Given the description of an element on the screen output the (x, y) to click on. 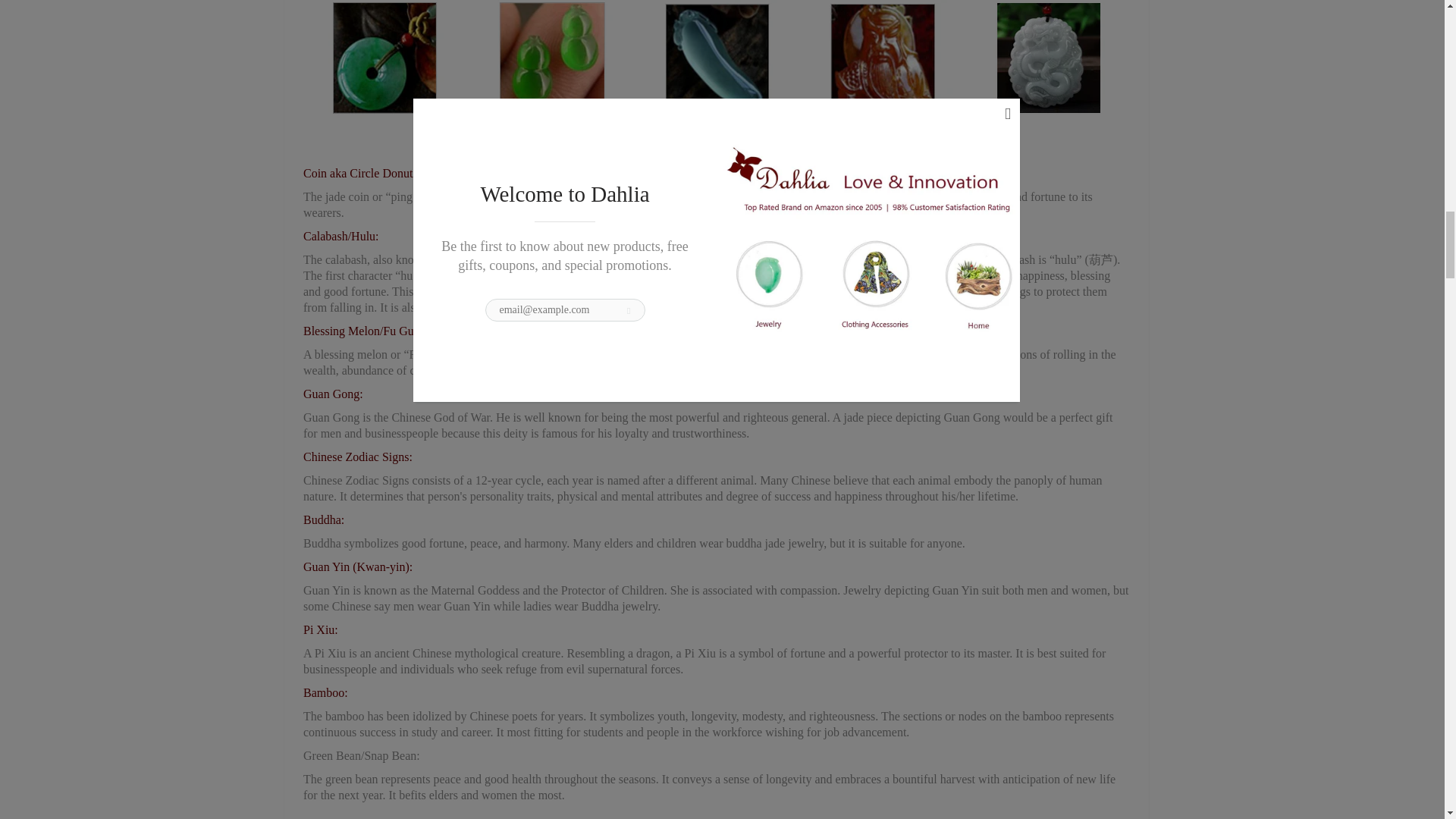
Dahlia Jade Jewelry Necklace Coin Circle Donut Pendant (392, 173)
Jadeite Jade Dahlia Calabash Necklace Pendant (340, 236)
Jadeite Jade Dahlia blessing melon Necklace Pendant (362, 330)
Jadeite Jade Dahlia Pi Xiu Necklace Pendant (319, 629)
Jadeite Jade Dahlia guan gong god of wealth Necklace Pendant (332, 393)
Jadeite Jade Dahlia Bamboo Necklace Pendant (324, 692)
Jadeite Jade Dahlia buddha Necklace Pendant happy lucky (322, 519)
